Given the description of an element on the screen output the (x, y) to click on. 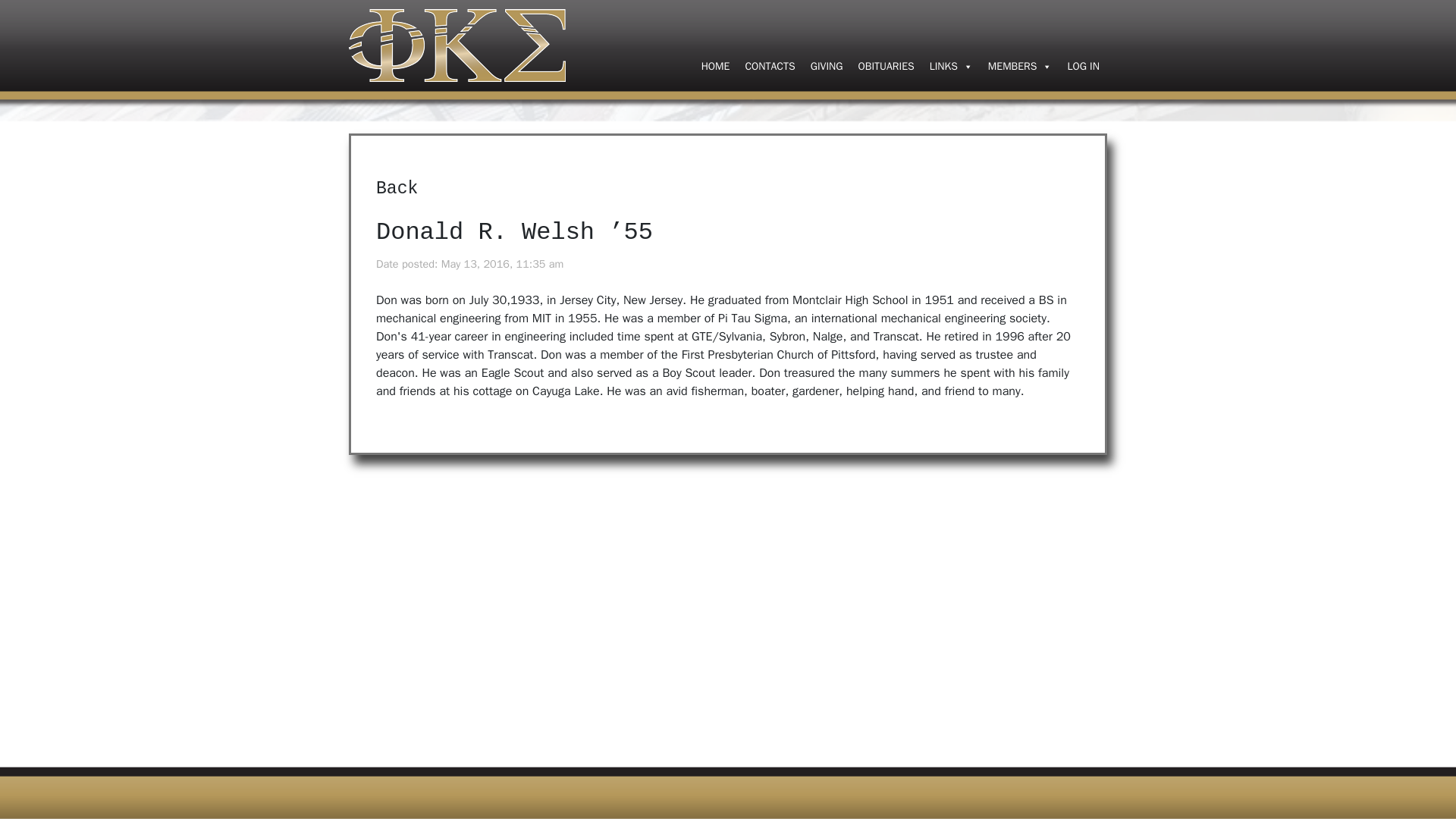
LINKS (950, 66)
MEMBERS (1019, 66)
CONTACTS (769, 66)
Back (396, 189)
HOME (716, 66)
LOG IN (1082, 66)
OBITUARIES (885, 66)
GIVING (826, 66)
